Given the description of an element on the screen output the (x, y) to click on. 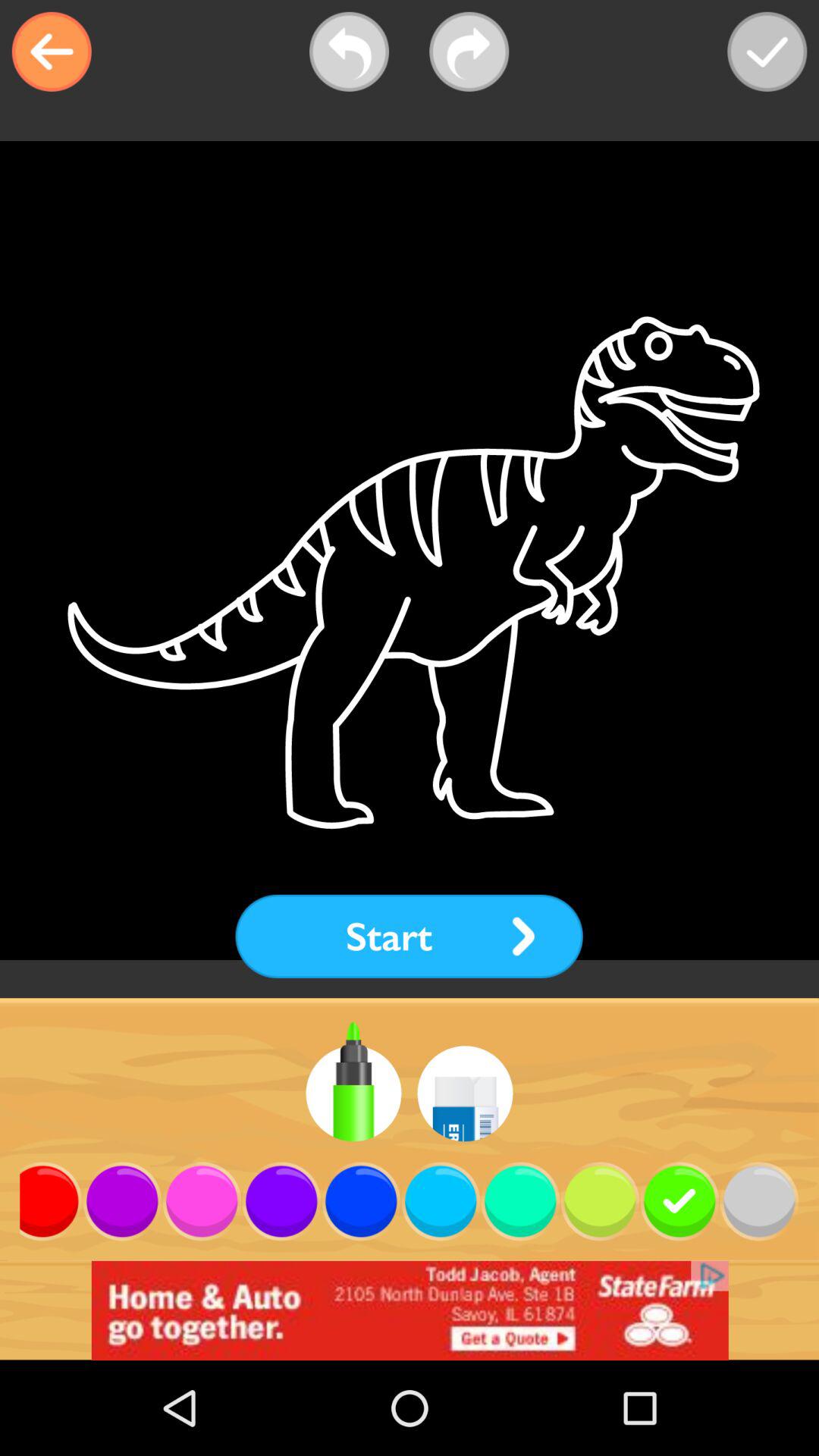
go back (51, 51)
